Given the description of an element on the screen output the (x, y) to click on. 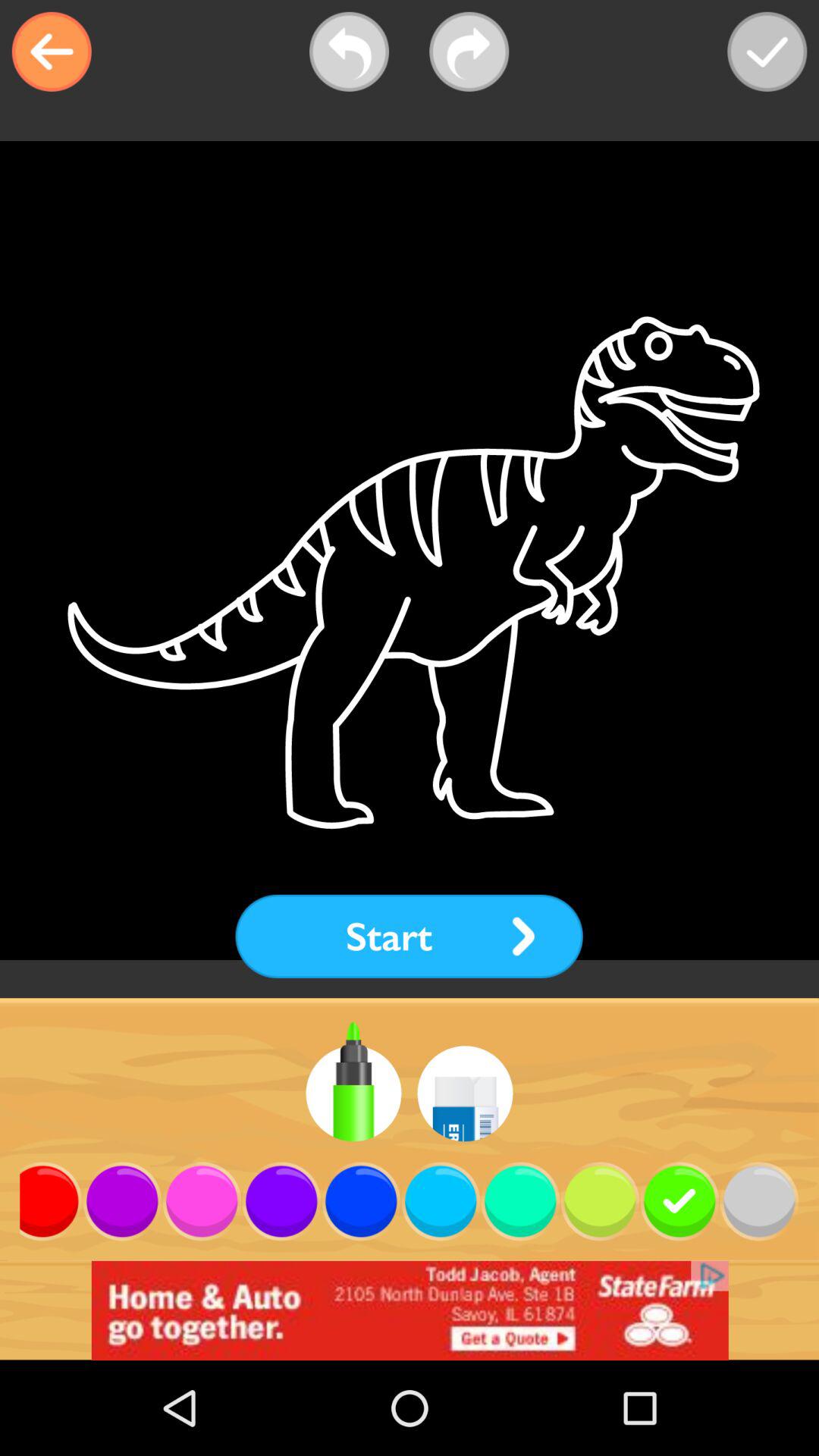
go back (51, 51)
